Given the description of an element on the screen output the (x, y) to click on. 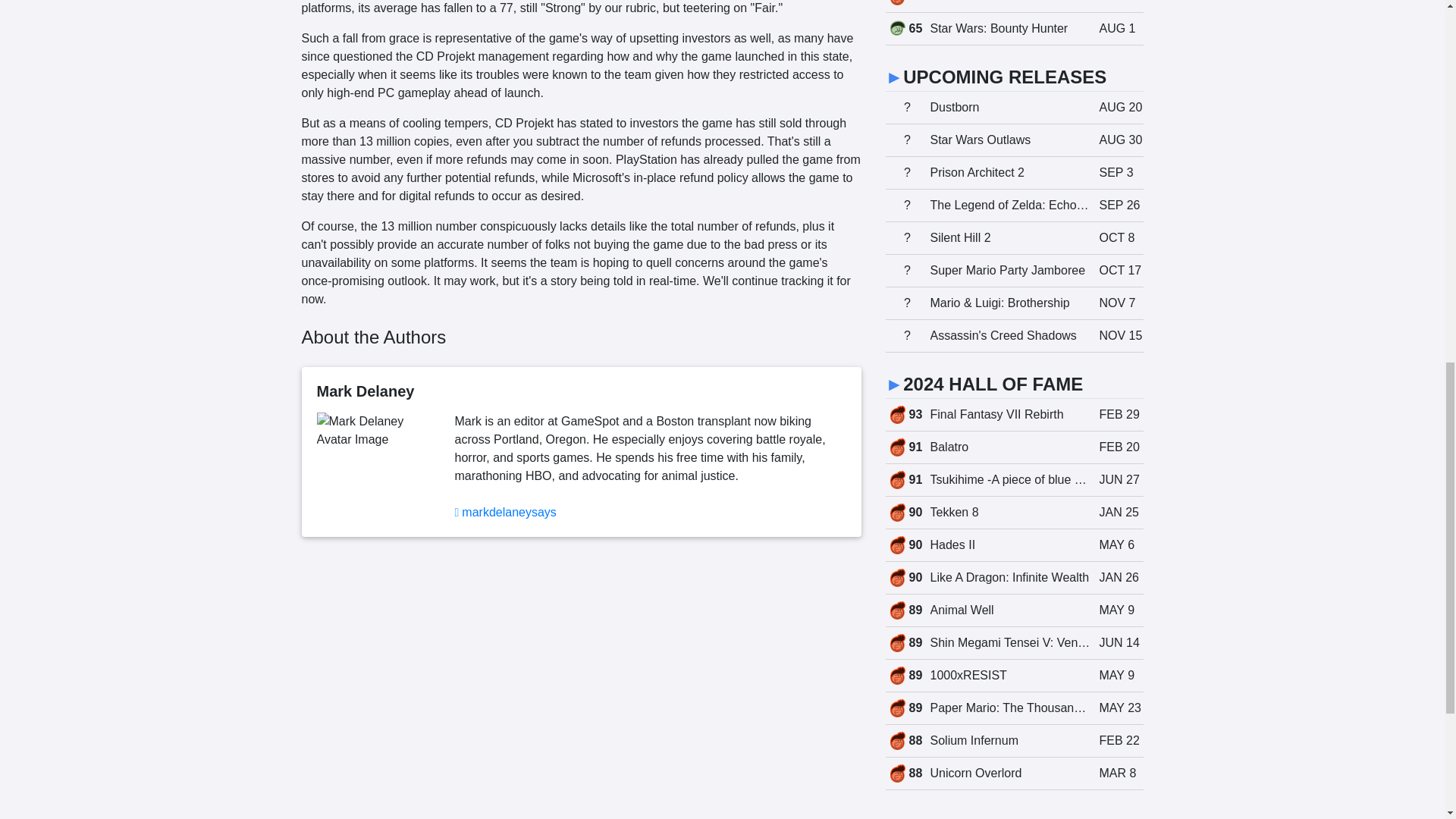
markdelaneysays (508, 512)
Mark Delaney (1013, 6)
